Given the description of an element on the screen output the (x, y) to click on. 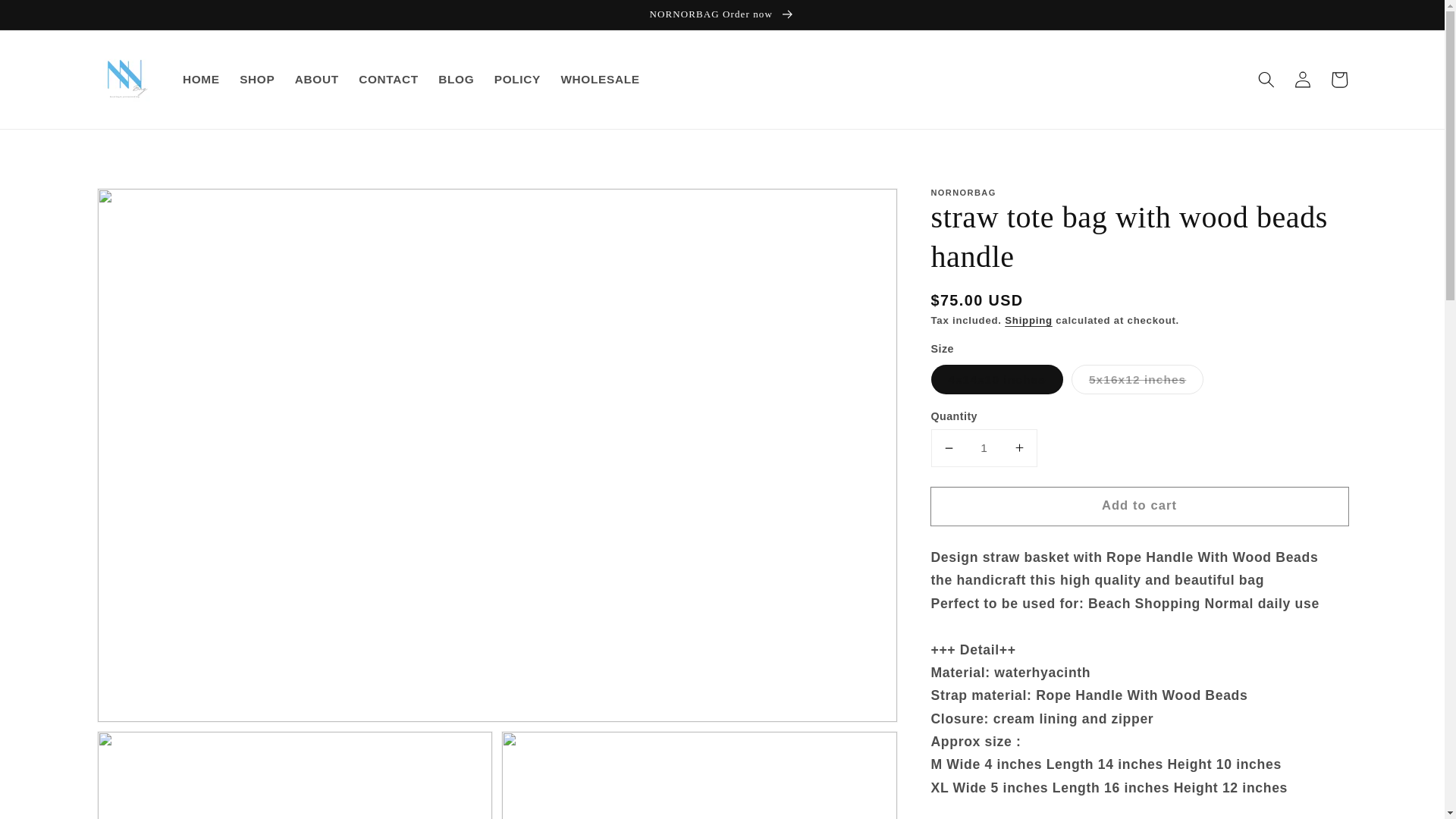
Cart (1338, 79)
POLICY (517, 79)
SHOP (257, 79)
BLOG (455, 79)
Open media 1 in gallery view (294, 775)
Increase quantity for straw tote bag with wood beads handle (1019, 447)
1 (984, 447)
ABOUT (317, 79)
Skip to content (49, 18)
WHOLESALE (599, 79)
HOME (201, 79)
Open media 3 in gallery view (699, 775)
